Given the description of an element on the screen output the (x, y) to click on. 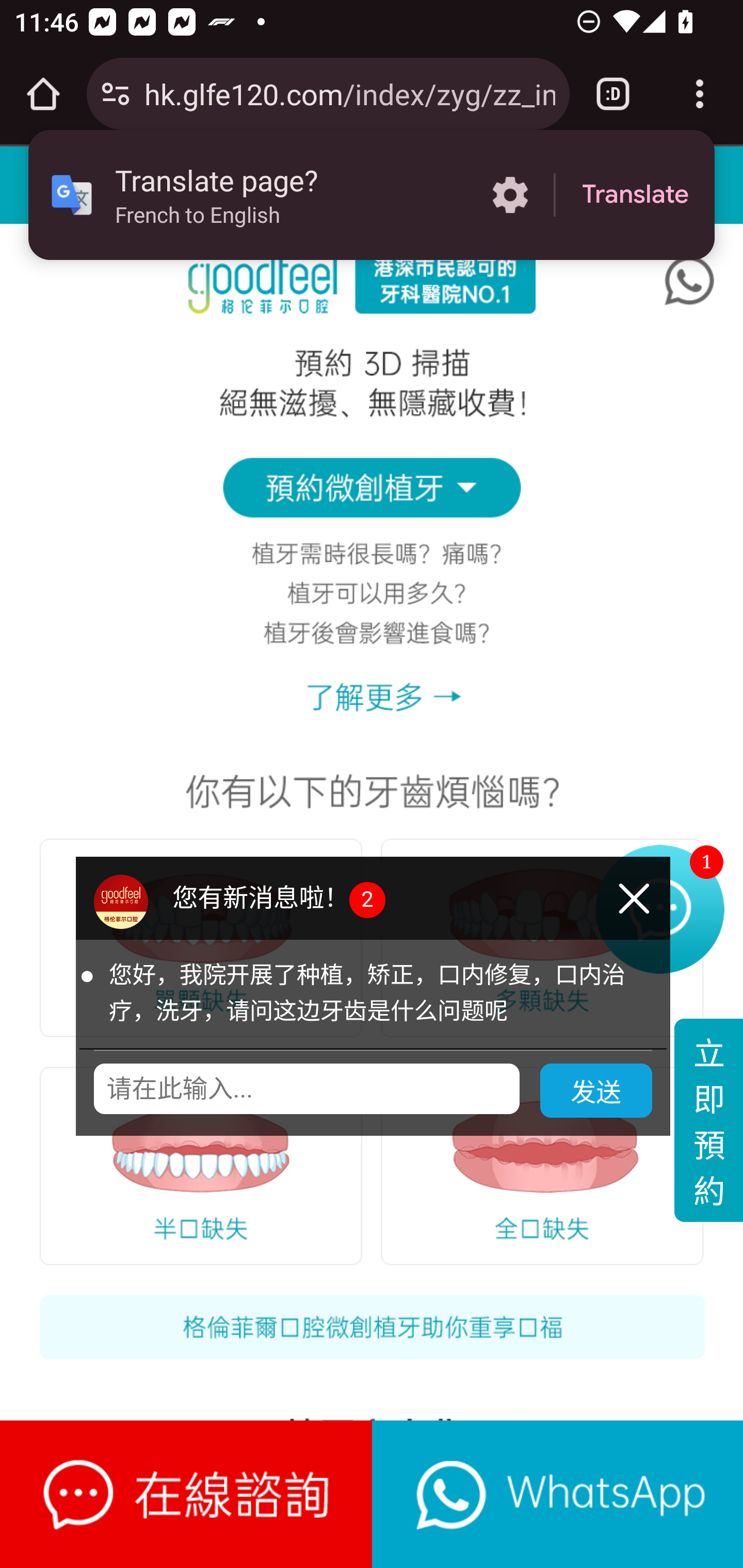
Open the home page (43, 93)
Connection is secure (115, 93)
Switch or close tabs (612, 93)
Customize and control Google Chrome (699, 93)
Translate (634, 195)
More options in the Translate page? (509, 195)
立 即 預 約 立 即 預 約 (708, 1121)
发送 (596, 1091)
javascript:lrminiMax(); (186, 1494)
javascript:addMessage(); (557, 1494)
